Given the description of an element on the screen output the (x, y) to click on. 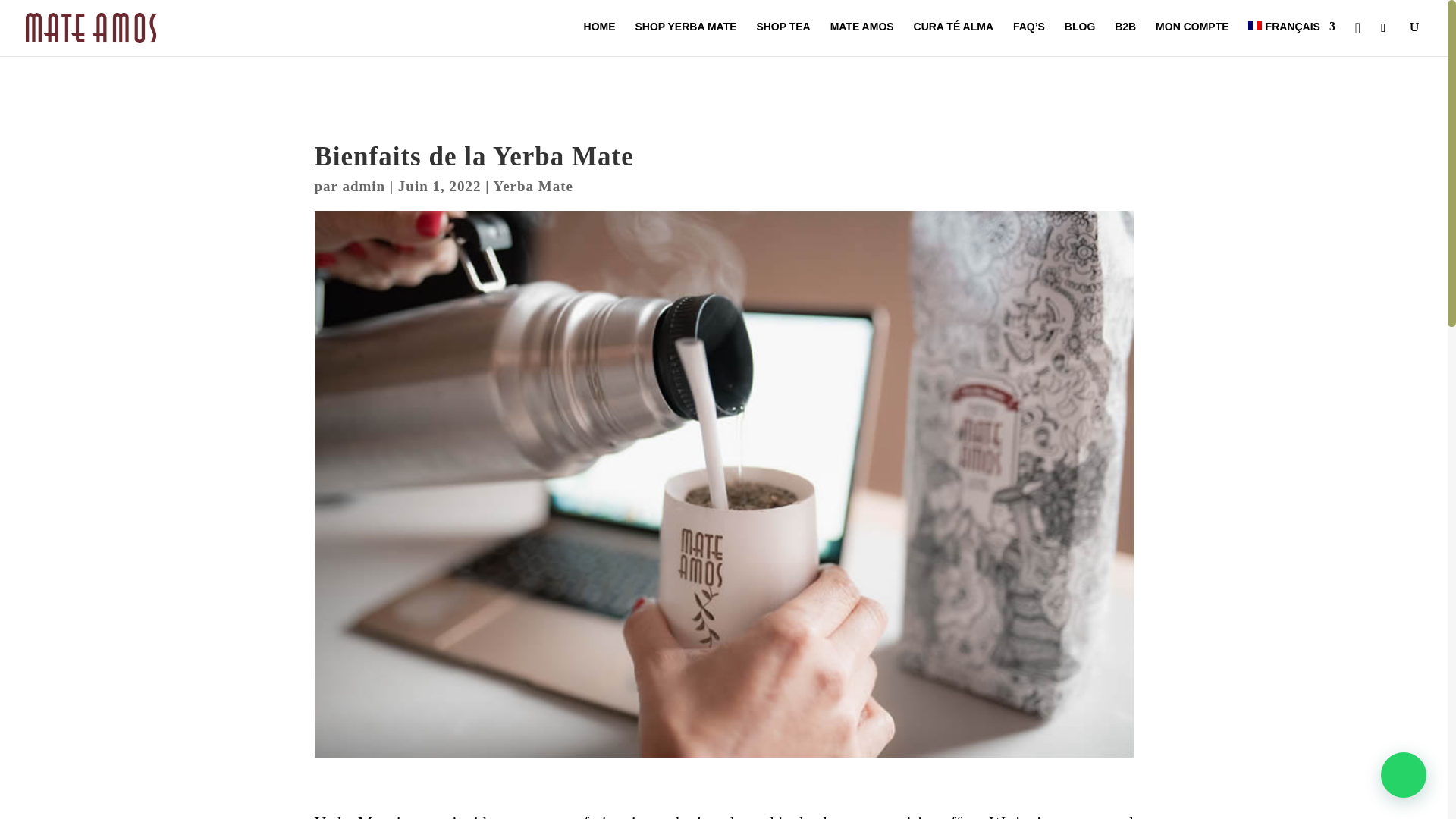
BLOG (1079, 36)
SHOP YERBA MATE (685, 36)
HOME (599, 36)
MATE AMOS (861, 36)
Yerba Mate (533, 186)
admin (363, 186)
SHOP TEA (782, 36)
Articles de admin (363, 186)
MON COMPTE (1192, 36)
